Given the description of an element on the screen output the (x, y) to click on. 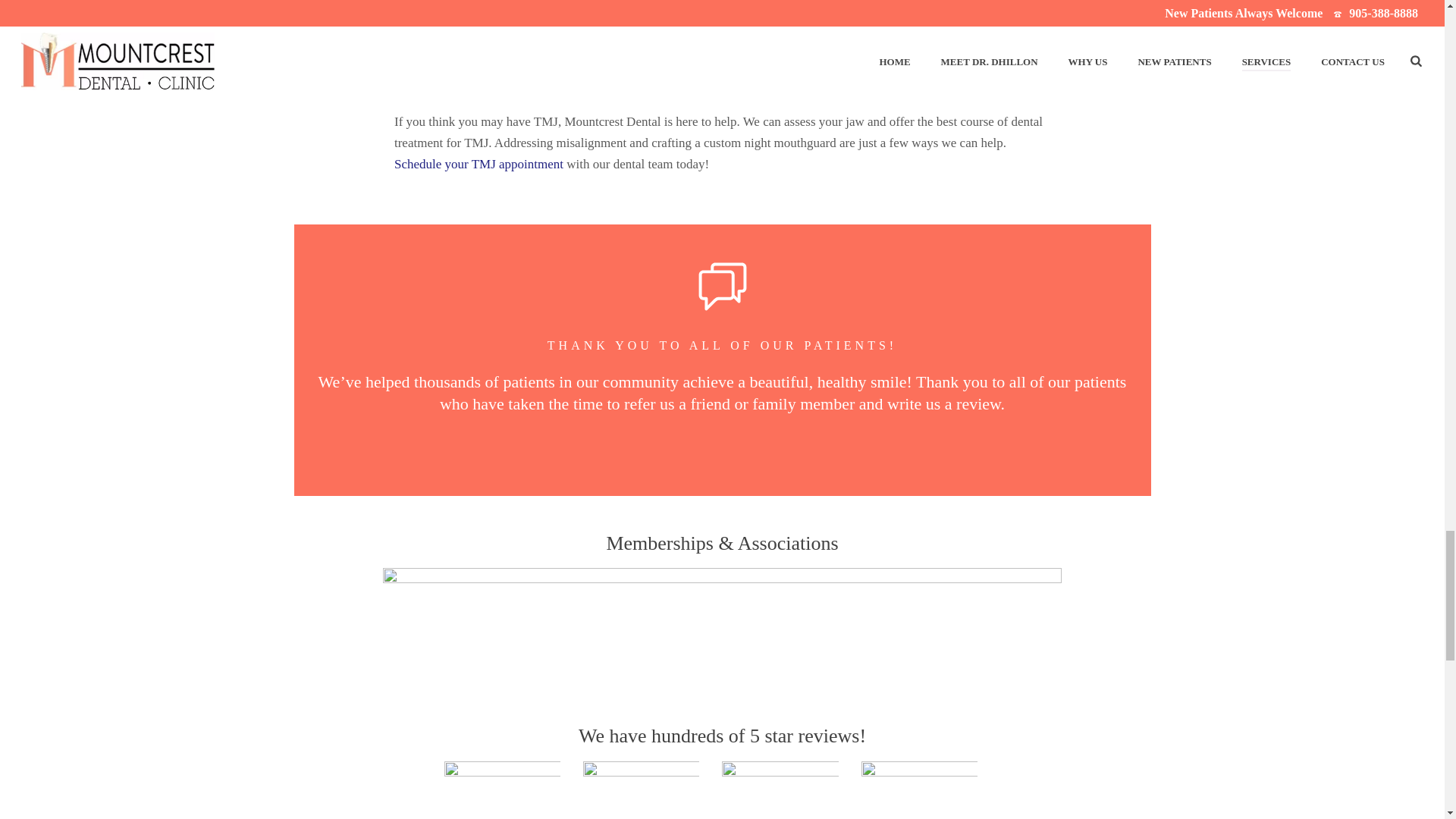
yelp-review (918, 790)
facebook-logo (502, 790)
yellow-pages-logo (780, 790)
google-logo (640, 790)
